Given the description of an element on the screen output the (x, y) to click on. 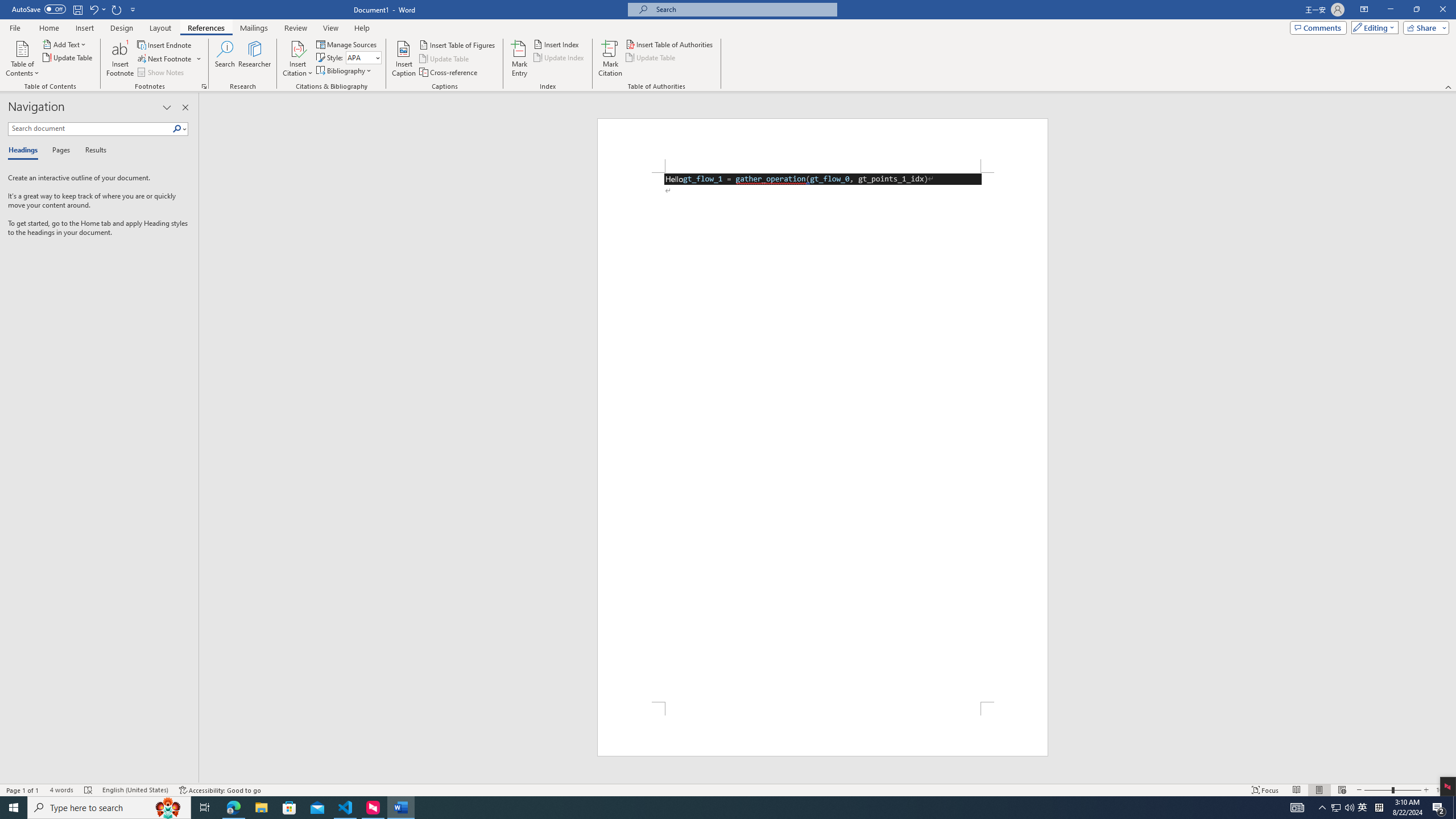
Page Number Page 1 of 1 (22, 790)
Bibliography (344, 69)
Insert Index... (556, 44)
Mark Citation... (610, 58)
Insert Table of Figures... (458, 44)
Class: MsoCommandBar (728, 789)
Pages (59, 150)
Accessibility Checker Accessibility: Good to go (220, 790)
Spelling and Grammar Check Errors (88, 790)
